Given the description of an element on the screen output the (x, y) to click on. 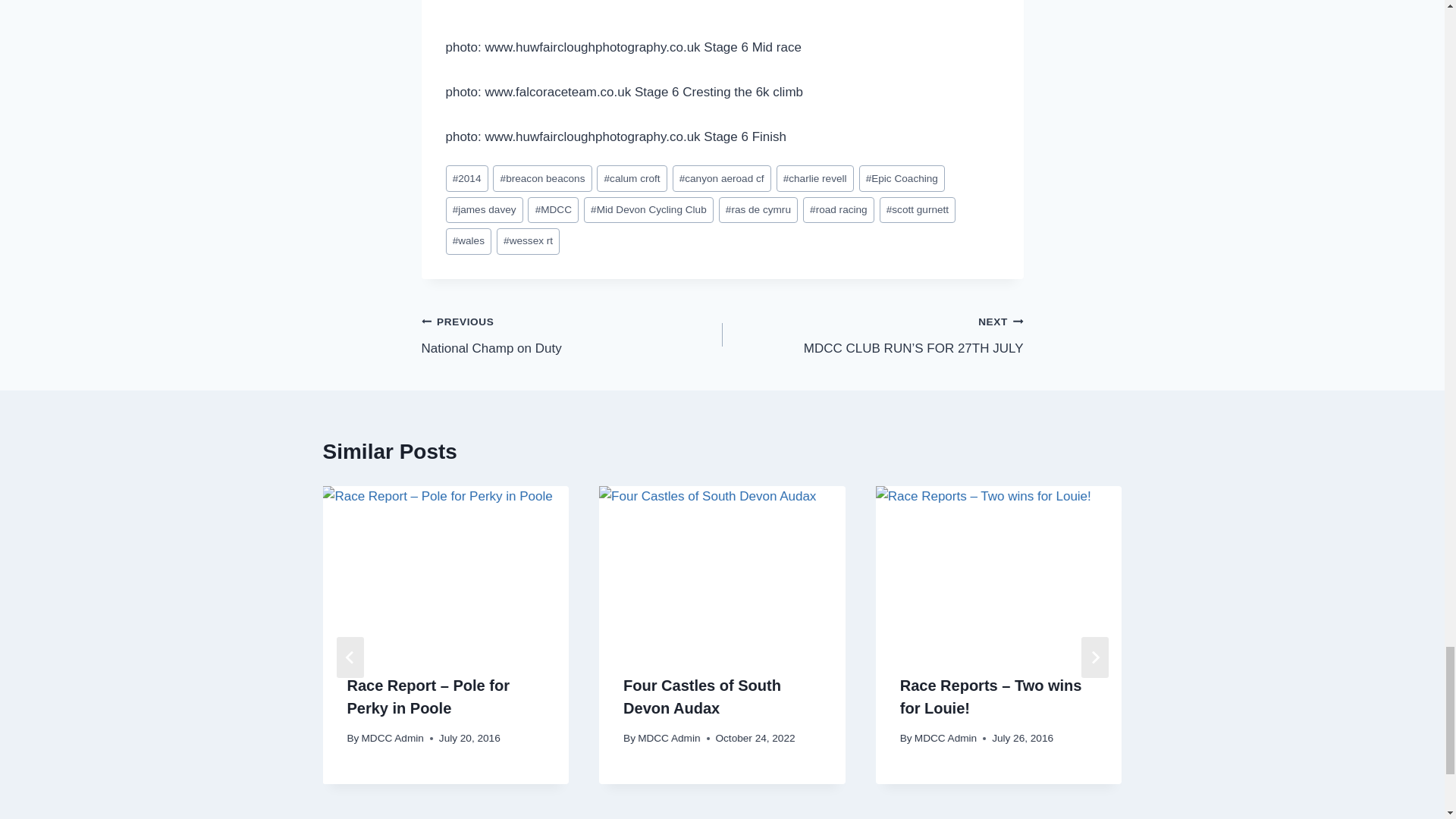
charlie revell (814, 178)
2014 (466, 178)
road racing (839, 210)
wessex rt (527, 241)
ras de cymru (758, 210)
wales (468, 241)
calum croft (631, 178)
Mid Devon Cycling Club (648, 210)
Epic Coaching (901, 178)
MDCC (552, 210)
scott gurnett (917, 210)
breacon beacons (542, 178)
canyon aeroad cf (721, 178)
james davey (483, 210)
